Given the description of an element on the screen output the (x, y) to click on. 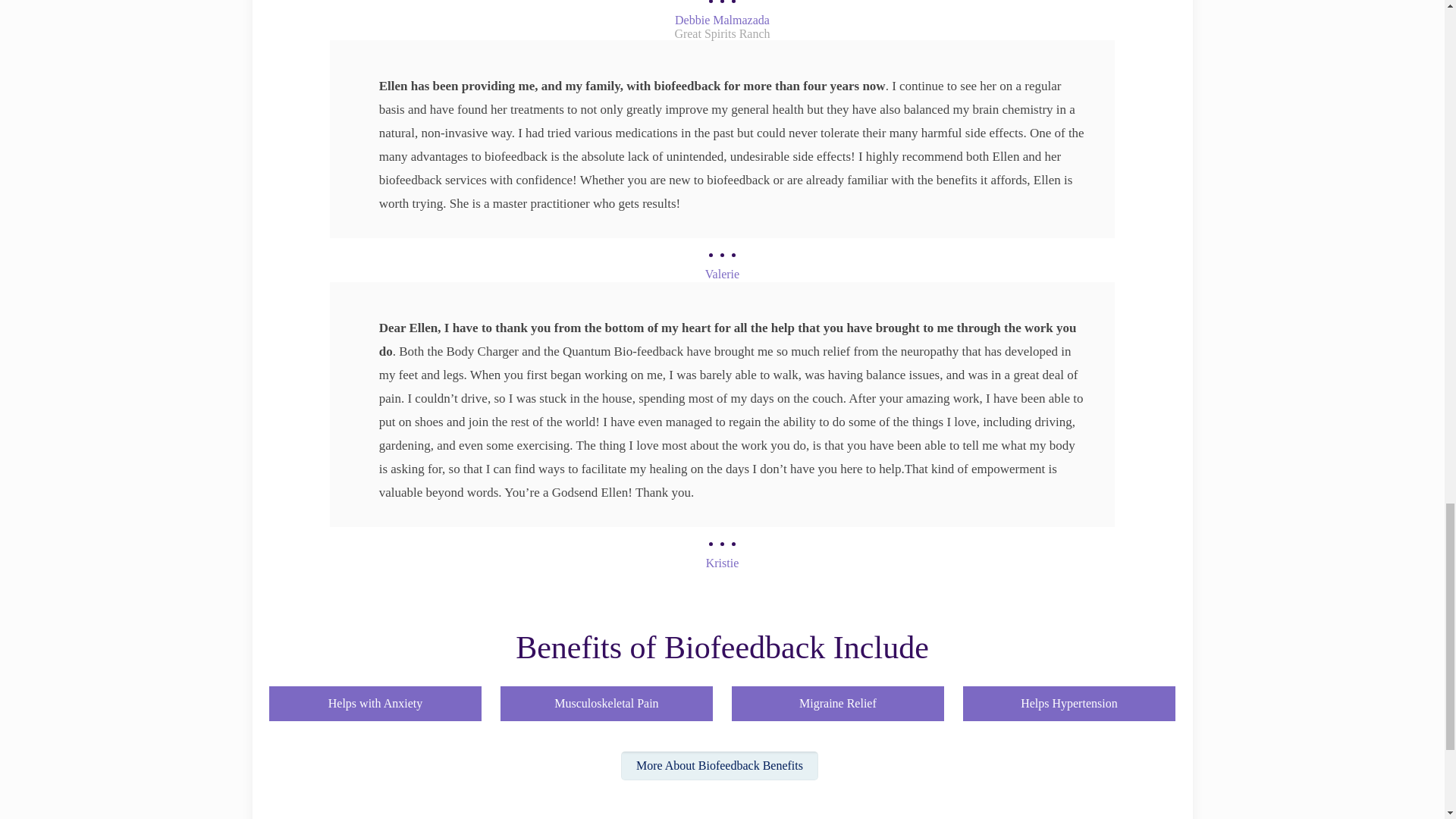
Migraine Relief (838, 701)
Helps Hypertension (1069, 701)
Musculoskeletal Pain (606, 701)
More About Biofeedback Benefits (719, 765)
Helps with Anxiety (375, 701)
